Given the description of an element on the screen output the (x, y) to click on. 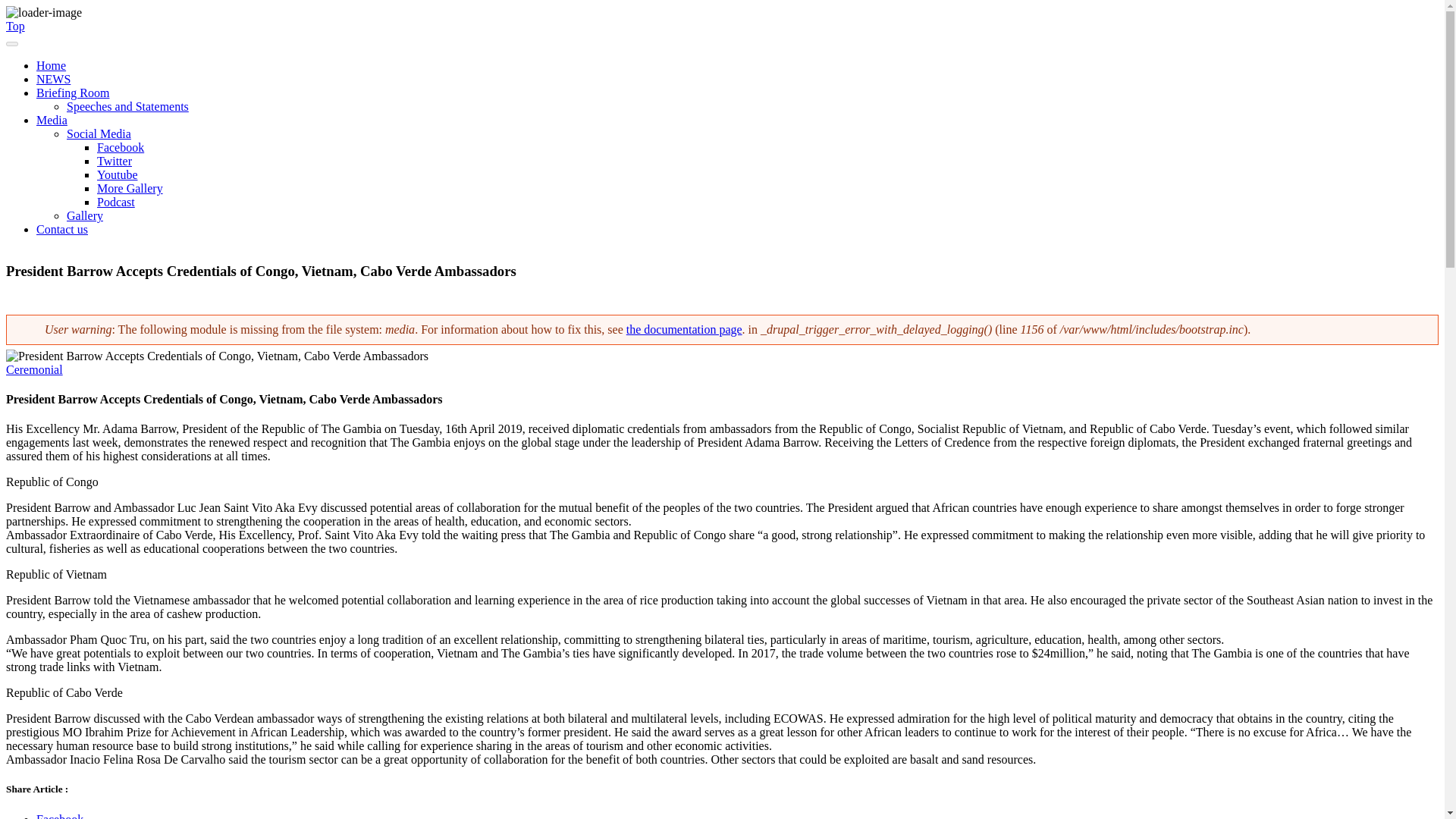
Social Media (98, 133)
Top (14, 25)
Briefing Room (72, 92)
NEWS (52, 78)
Media (51, 119)
Facebook (59, 816)
Gallery (84, 215)
Podcast (116, 201)
More Gallery (130, 187)
Home (50, 65)
the documentation page (684, 328)
Facebook (59, 816)
Twitter (114, 160)
Speeches and Statements (127, 106)
